Given the description of an element on the screen output the (x, y) to click on. 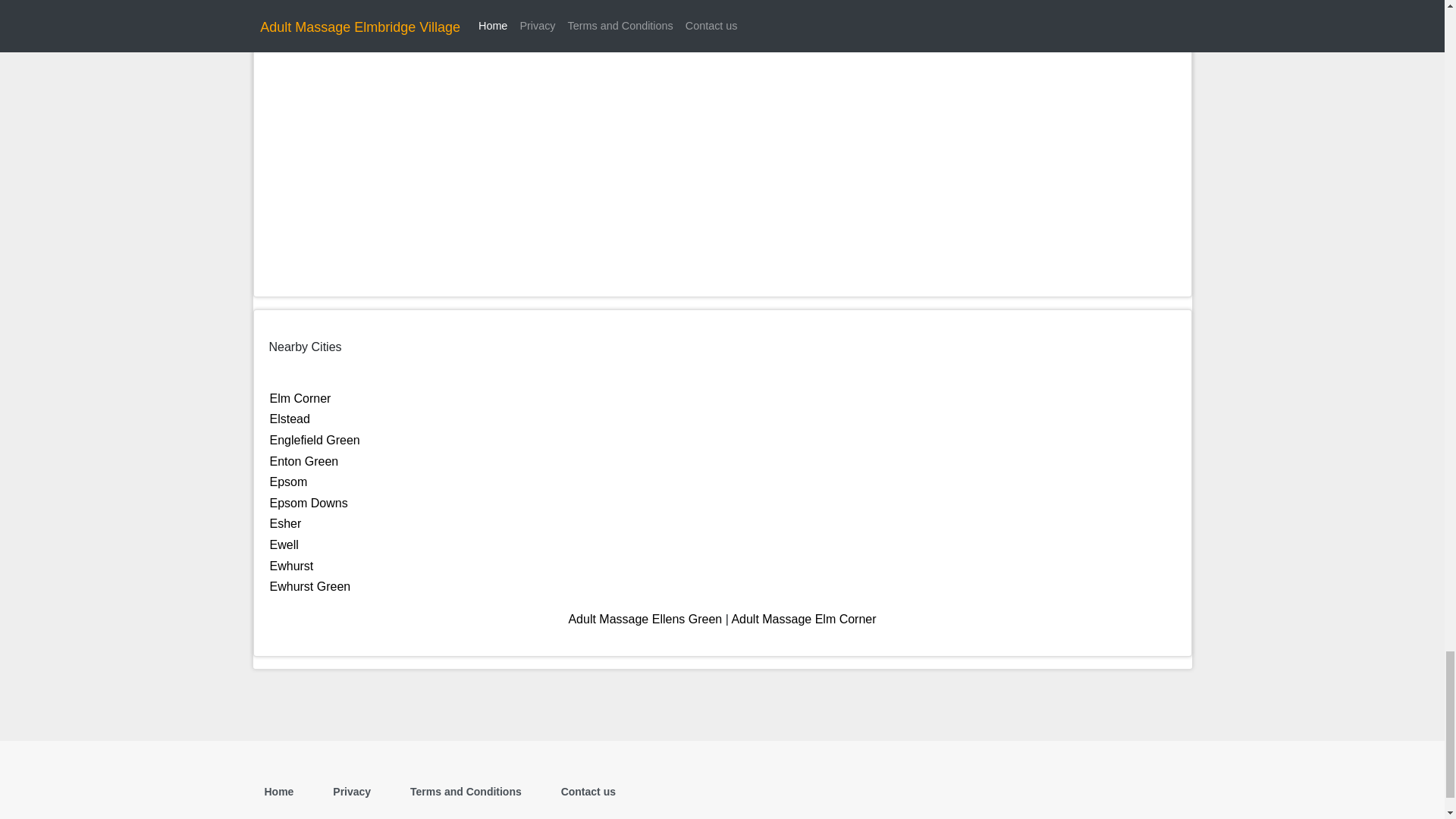
Ewell (283, 544)
Englefield Green (314, 440)
Epsom (288, 481)
Ewhurst (291, 565)
Adult Massage Elm Corner (803, 618)
Esher (285, 522)
Ewhurst Green (309, 585)
Elstead (289, 418)
Epsom Downs (308, 502)
Adult Massage Ellens Green (644, 618)
Enton Green (304, 461)
Elm Corner (300, 398)
